Given the description of an element on the screen output the (x, y) to click on. 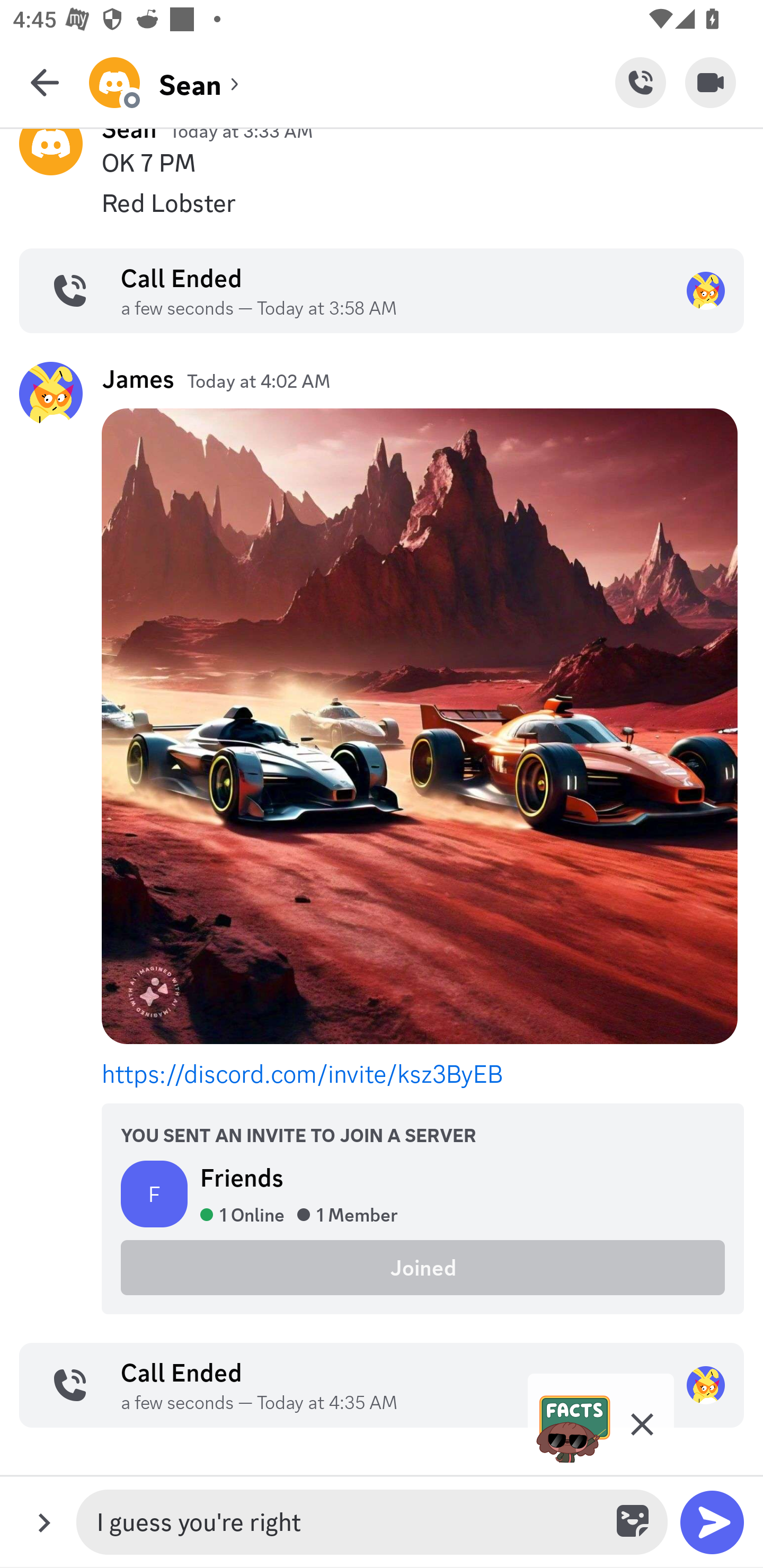
Sean (channel) Sean Sean (channel) (351, 82)
Back (44, 82)
Start Voice Call (640, 82)
Start Video Call (710, 82)
yuxiang.007, Red Lobster Red Lobster (381, 202)
Call Ended a few seconds — Today at 3:58 AM (381, 289)
James (137, 378)
Joined (422, 1267)
Call Ended a few seconds — Today at 4:35 AM (381, 1384)
I guess you're right Toggle emoji keyboard (371, 1522)
More (44, 1522)
Send (711, 1522)
Toggle emoji keyboard (634, 1522)
